Given the description of an element on the screen output the (x, y) to click on. 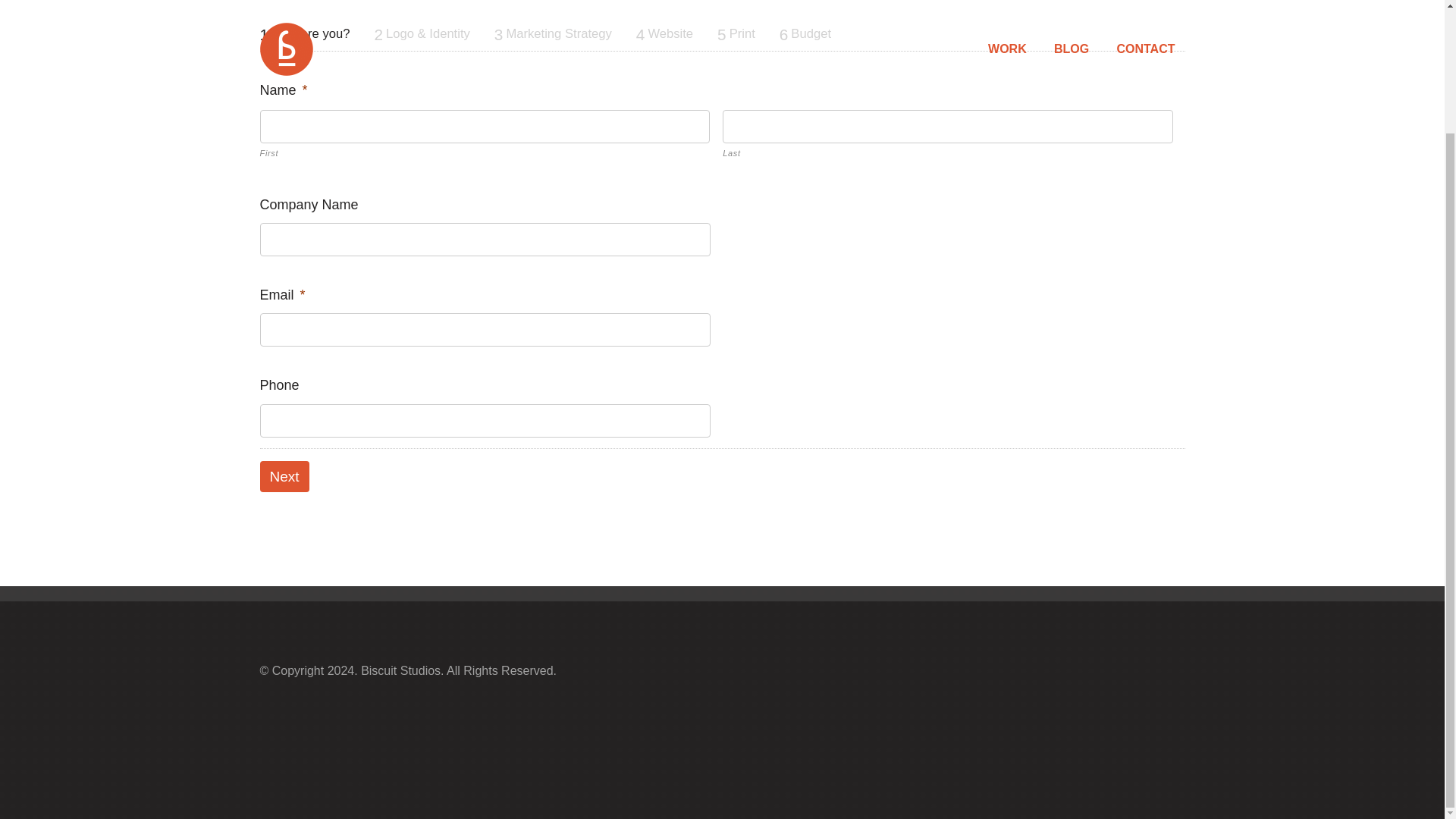
Next (283, 476)
